Given the description of an element on the screen output the (x, y) to click on. 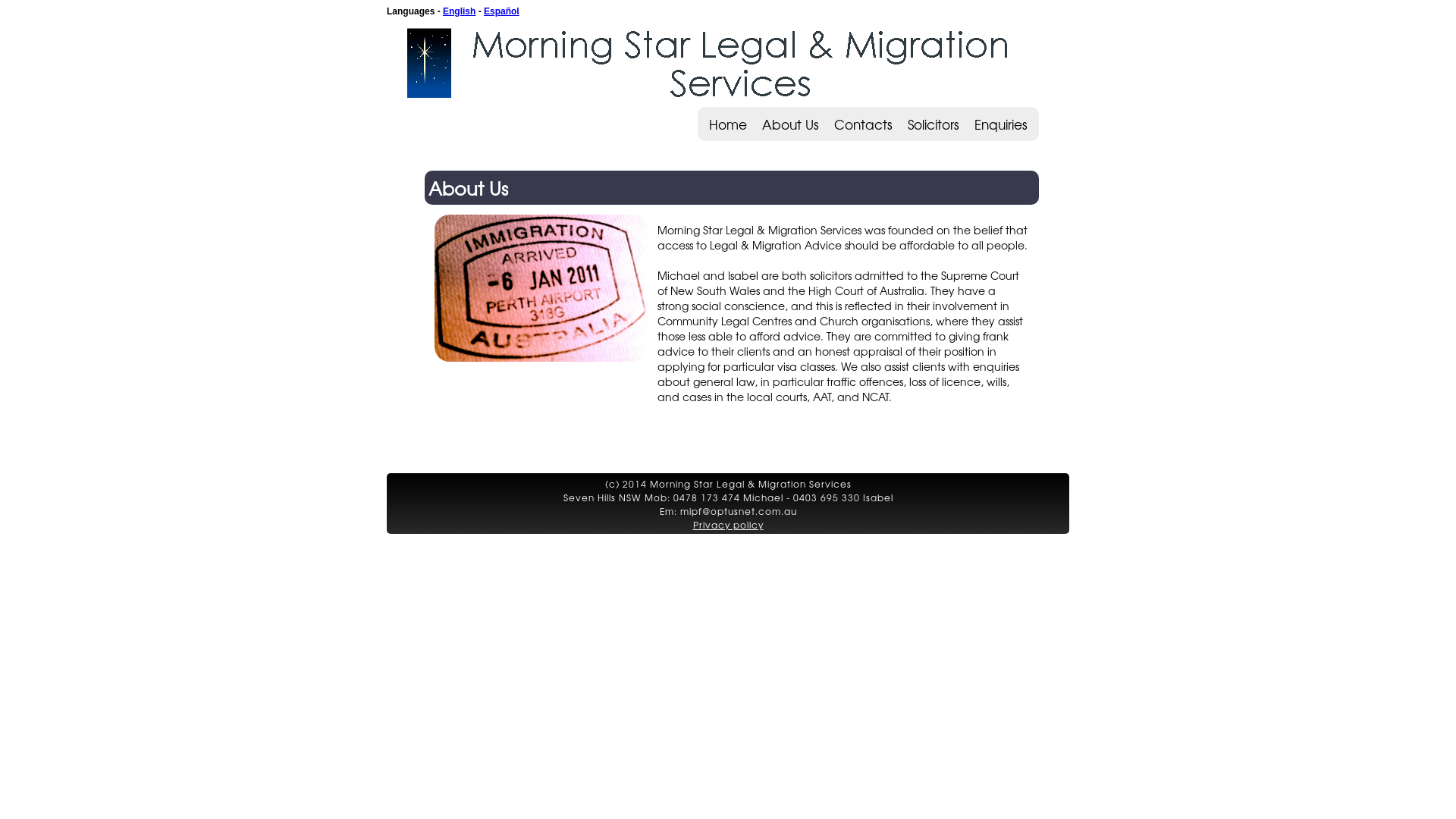
English Element type: text (458, 11)
Contacts Element type: text (863, 123)
/pageimg/pagarrival-stamp1.jpg Element type: hover (540, 364)
Enquiries Element type: text (1000, 123)
About Us Element type: text (790, 123)
Privacy policy Element type: text (728, 524)
Solicitors Element type: text (933, 123)
Home Element type: text (727, 123)
